Given the description of an element on the screen output the (x, y) to click on. 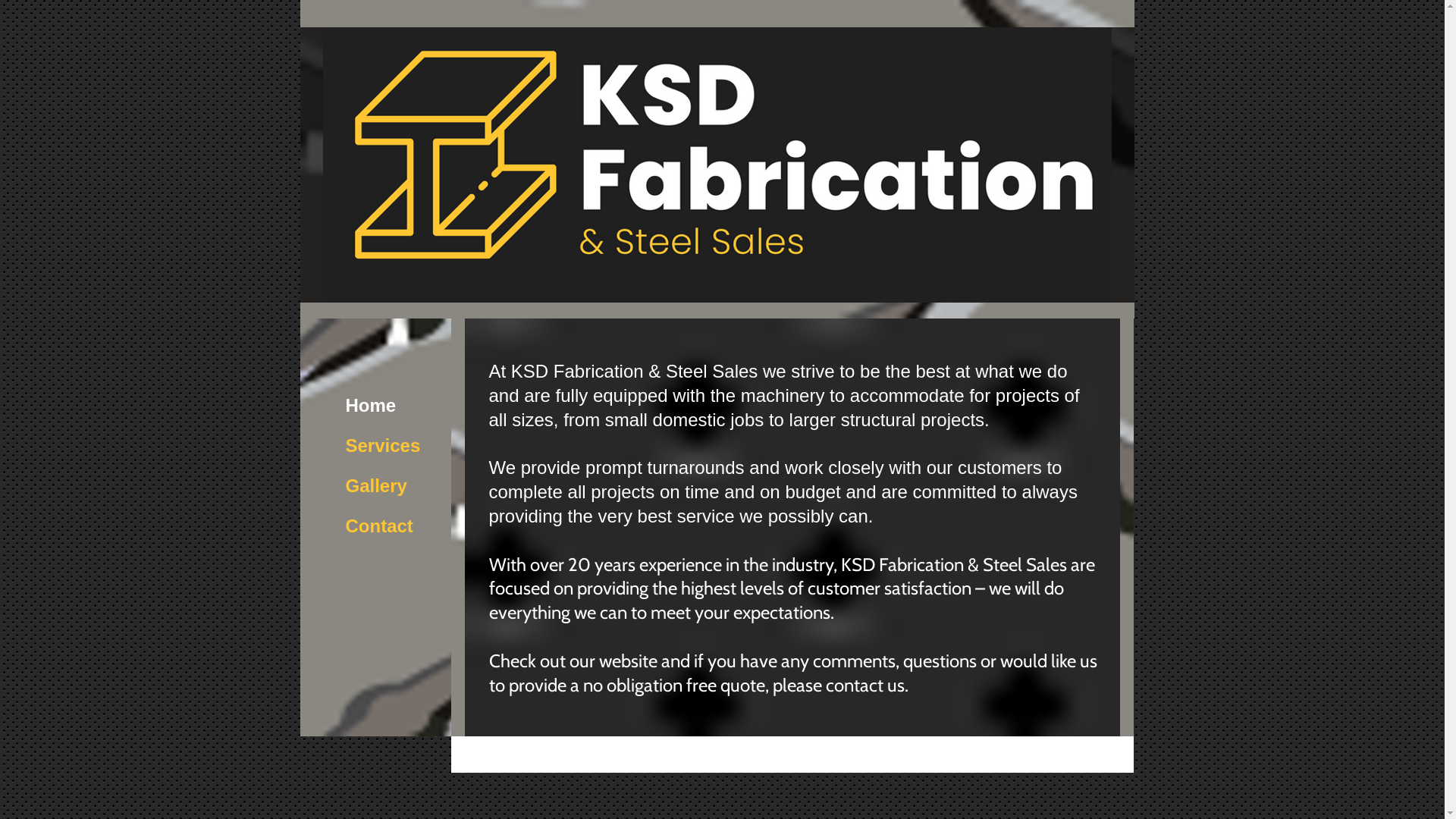
Gallery Element type: text (376, 486)
Services Element type: text (383, 445)
Home Element type: text (371, 405)
Contact Element type: text (379, 526)
